Given the description of an element on the screen output the (x, y) to click on. 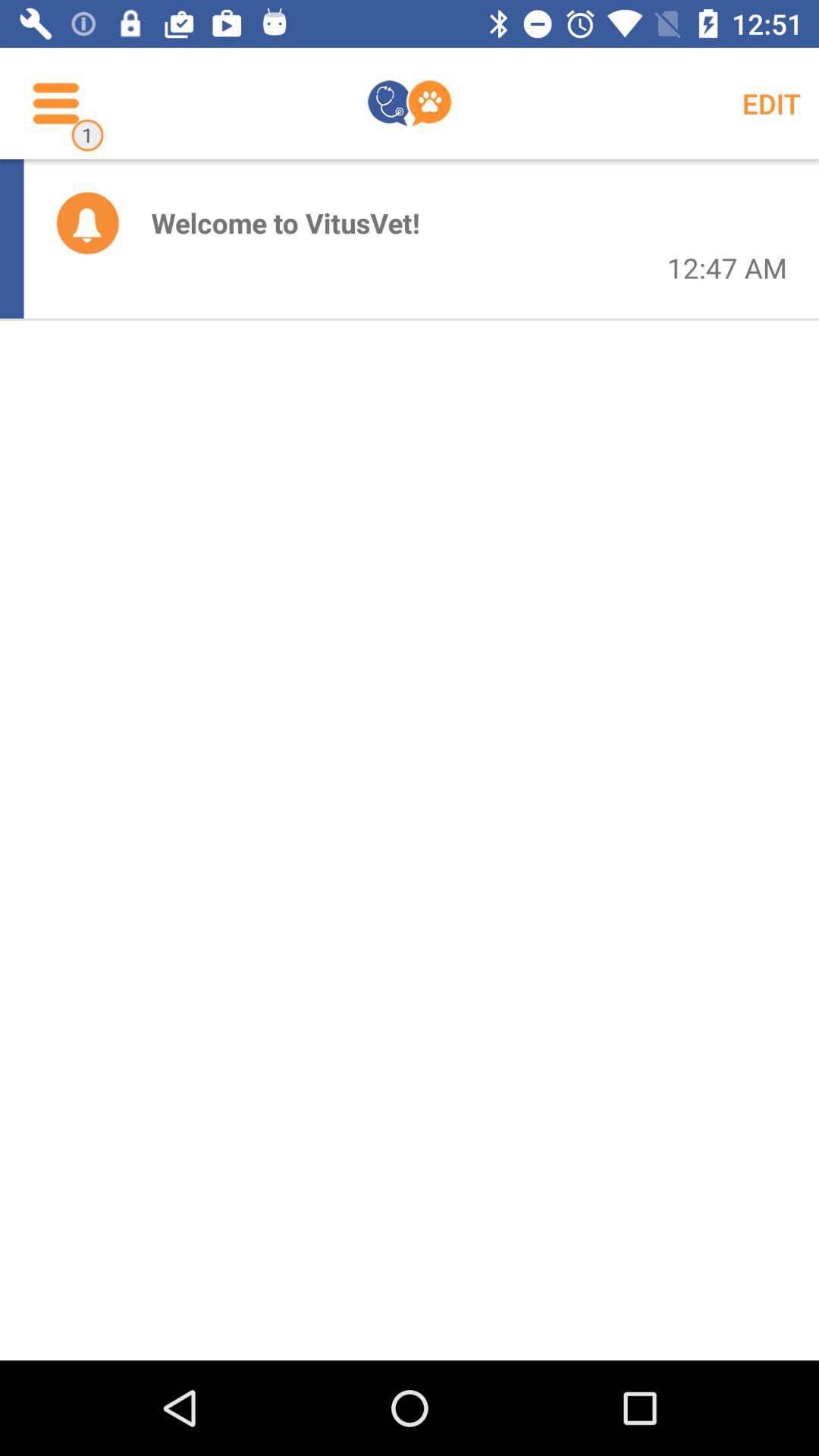
scroll to the welcome to vitusvet! icon (285, 222)
